Given the description of an element on the screen output the (x, y) to click on. 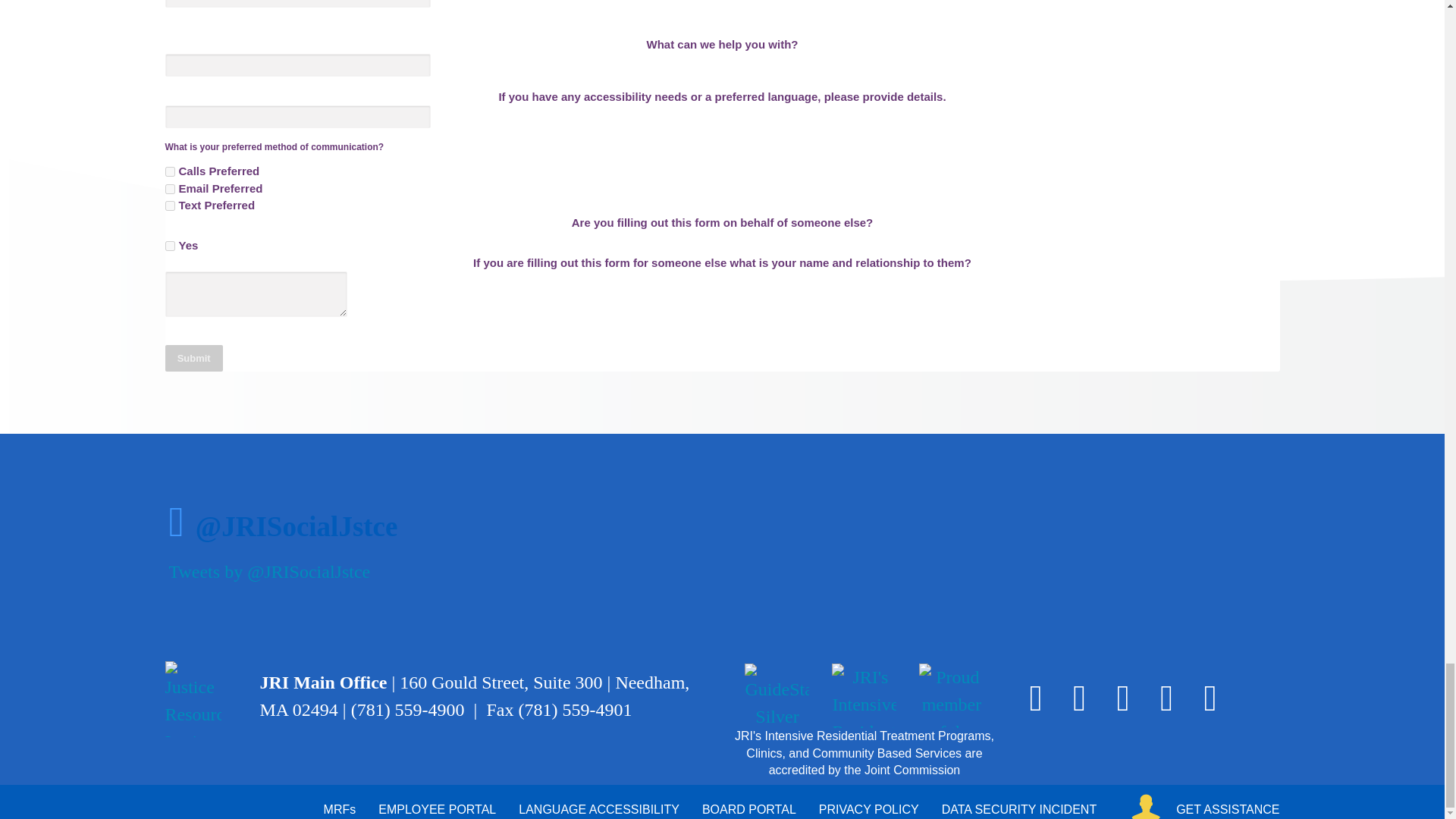
Submit (193, 357)
